Given the description of an element on the screen output the (x, y) to click on. 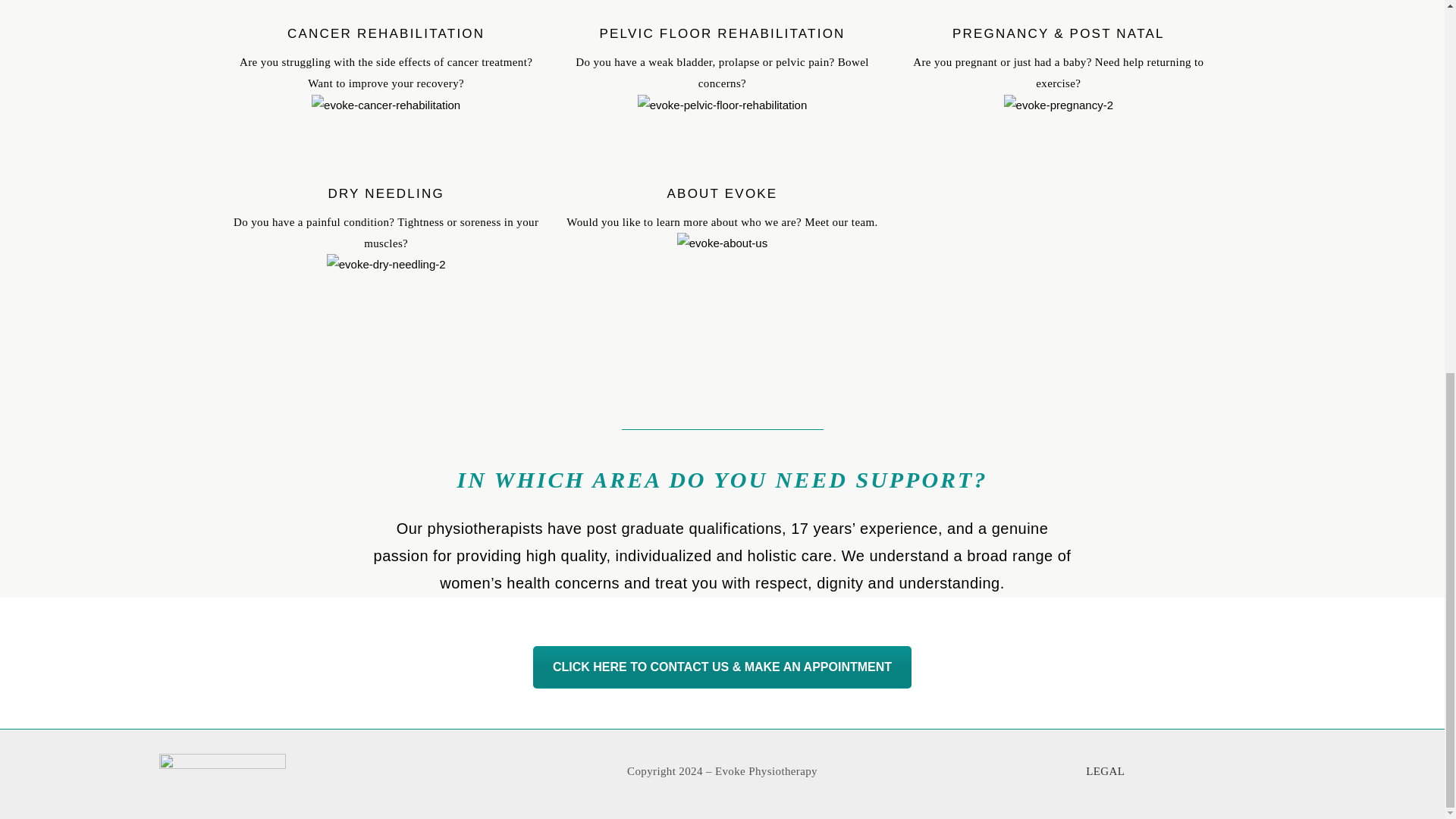
evoke-cancer-rehabilitation (385, 105)
evoke-about-us (722, 242)
evoke-pregnancy-2 (1058, 105)
evoke-dry-needling-2 (385, 264)
evoke-pelvic-floor-rehabilitation (722, 105)
Connect With Us (721, 667)
